Given the description of an element on the screen output the (x, y) to click on. 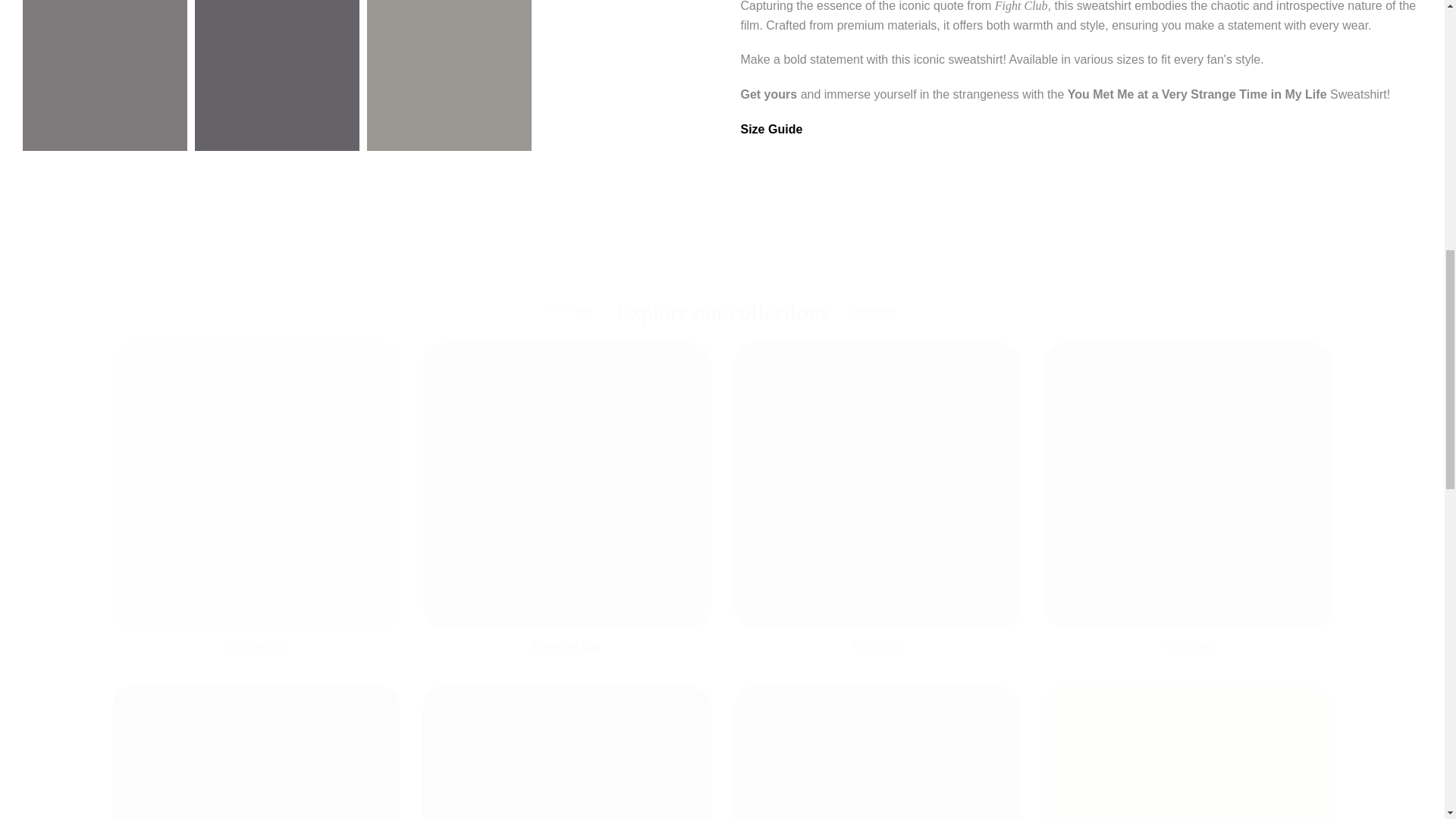
Fight Club (877, 645)
The Office (1187, 645)
Best Sellers (256, 645)
Breaking Bad (567, 645)
